Given the description of an element on the screen output the (x, y) to click on. 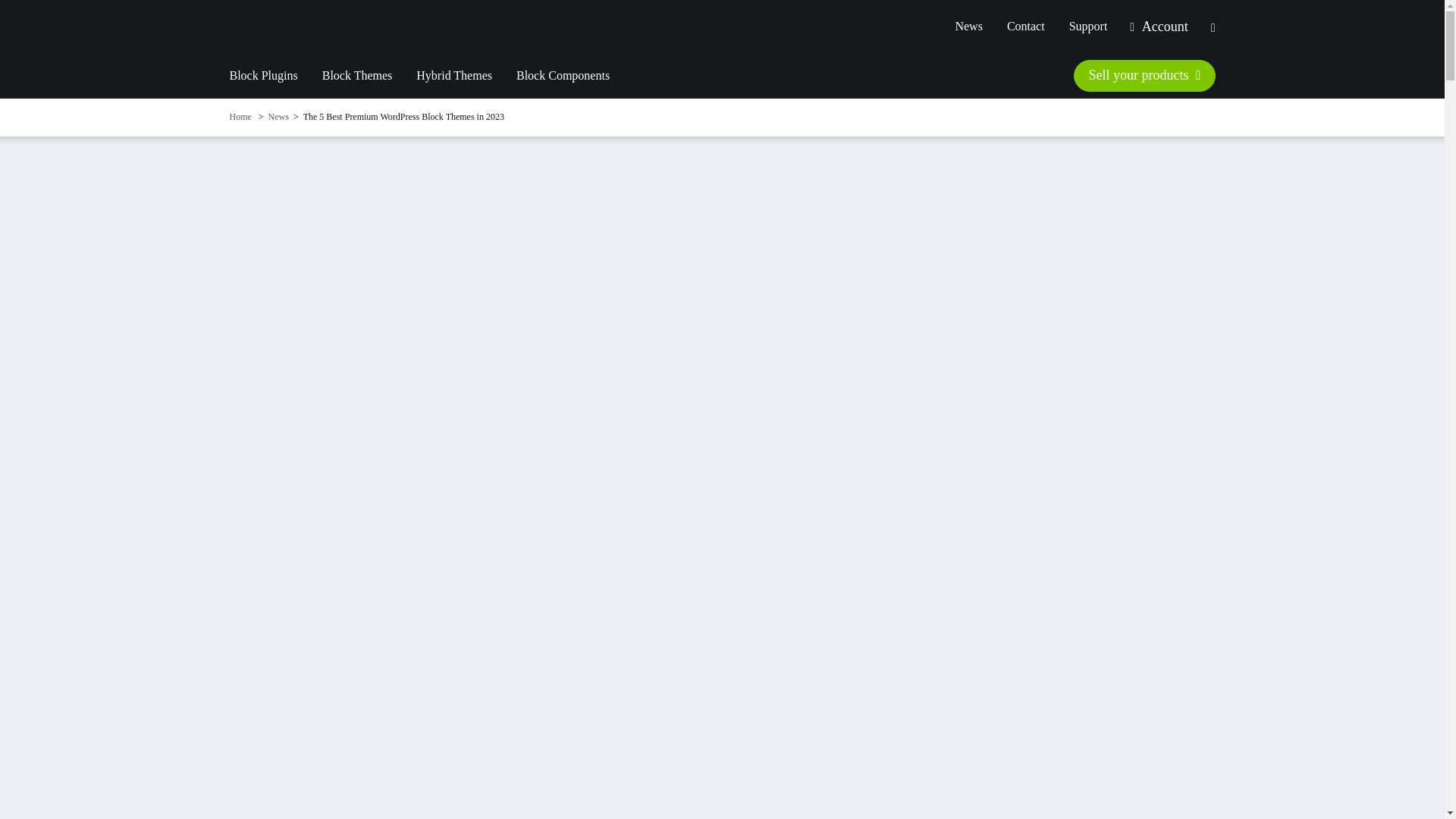
Support (1082, 26)
Home (240, 116)
Block Plugins (268, 75)
Contact (1025, 26)
News (279, 116)
Account (1158, 26)
Go to Gutenberg Market. (240, 116)
Go to the News. (279, 116)
Account (1158, 26)
Hybrid Themes (453, 75)
